Given the description of an element on the screen output the (x, y) to click on. 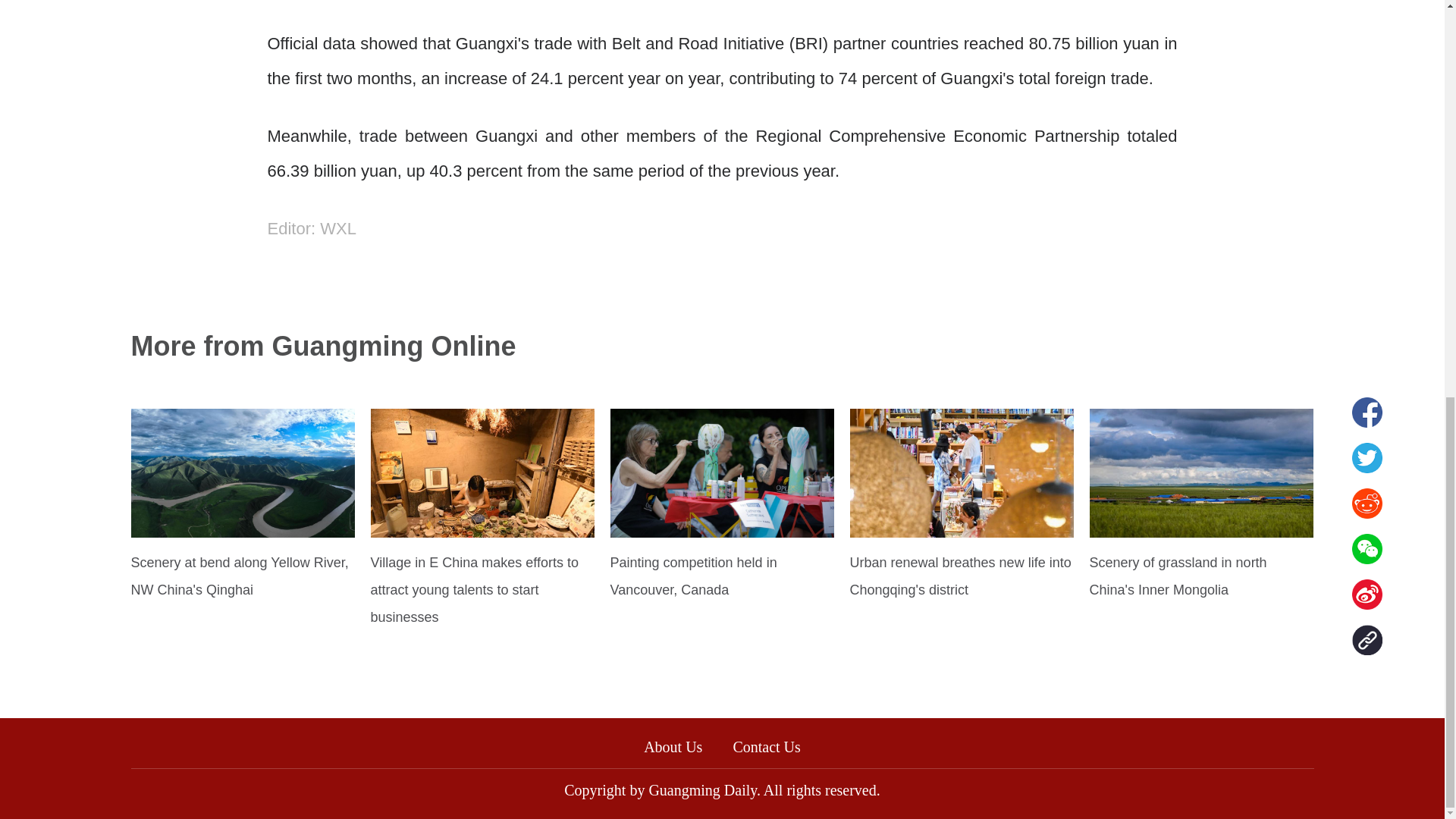
About Us (672, 746)
Painting competition held in Vancouver, Canada (693, 576)
Scenery of grassland in north China's Inner Mongolia (1177, 576)
Scenery at bend along Yellow River, NW China's Qinghai (239, 576)
Contact Us (773, 746)
Urban renewal breathes new life into Chongqing's district (959, 576)
